Given the description of an element on the screen output the (x, y) to click on. 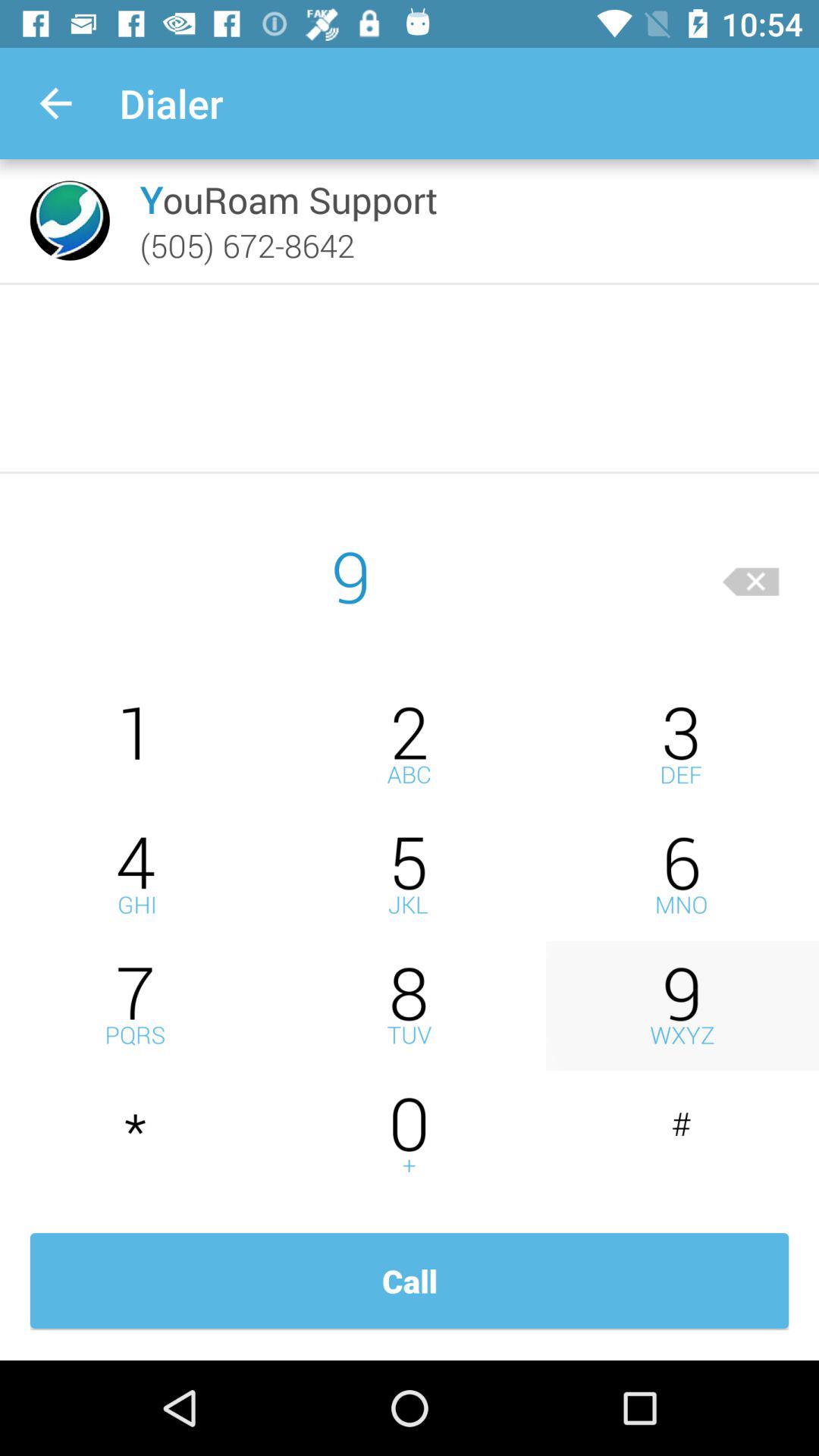
click the number 3 (682, 745)
